Given the description of an element on the screen output the (x, y) to click on. 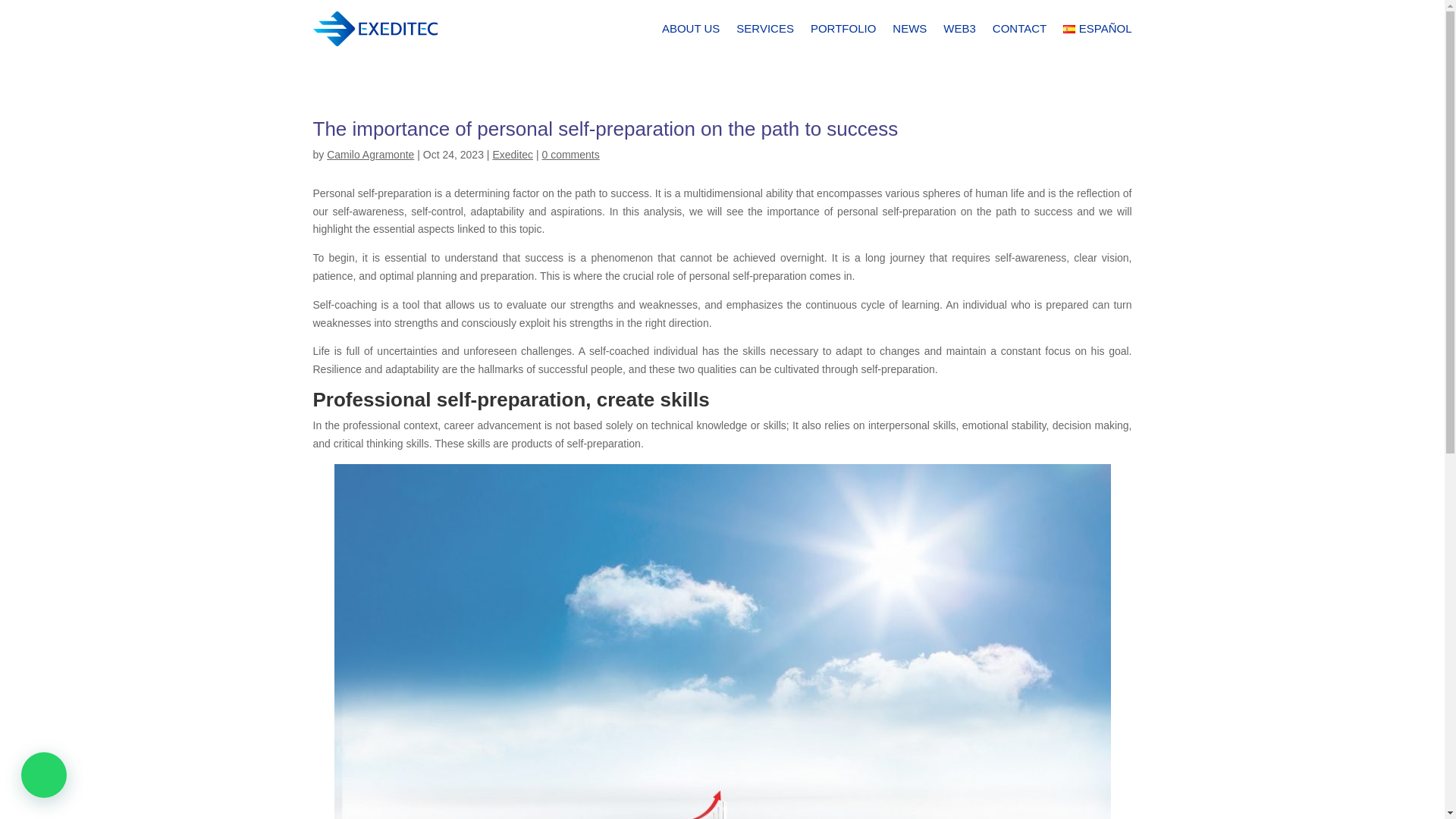
Exeditec (512, 154)
Camilo Agramonte (369, 154)
PORTFOLIO (843, 28)
CONTACT (1019, 28)
0 comments (569, 154)
ABOUT US (690, 28)
SERVICES (764, 28)
Posts by Camilo Agramonte (369, 154)
